Given the description of an element on the screen output the (x, y) to click on. 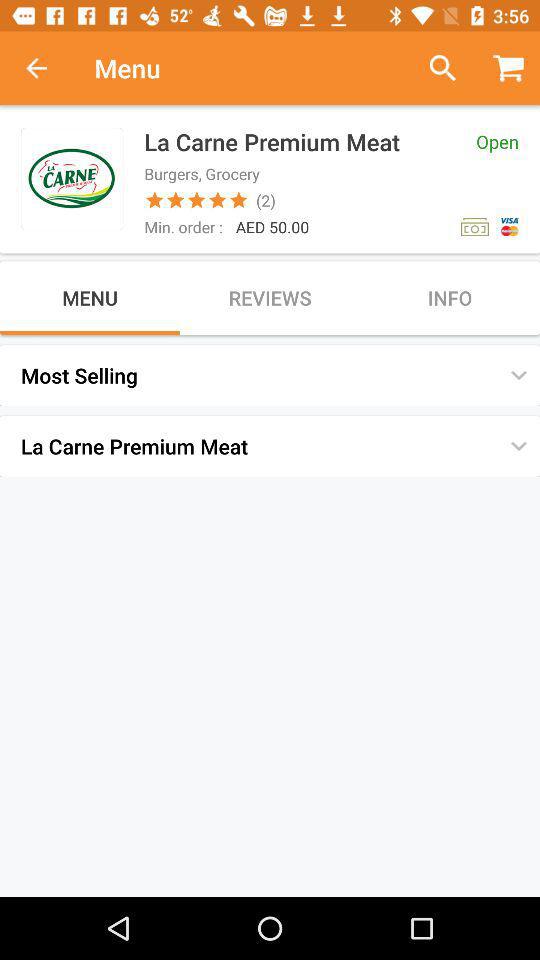
go back (47, 68)
